Given the description of an element on the screen output the (x, y) to click on. 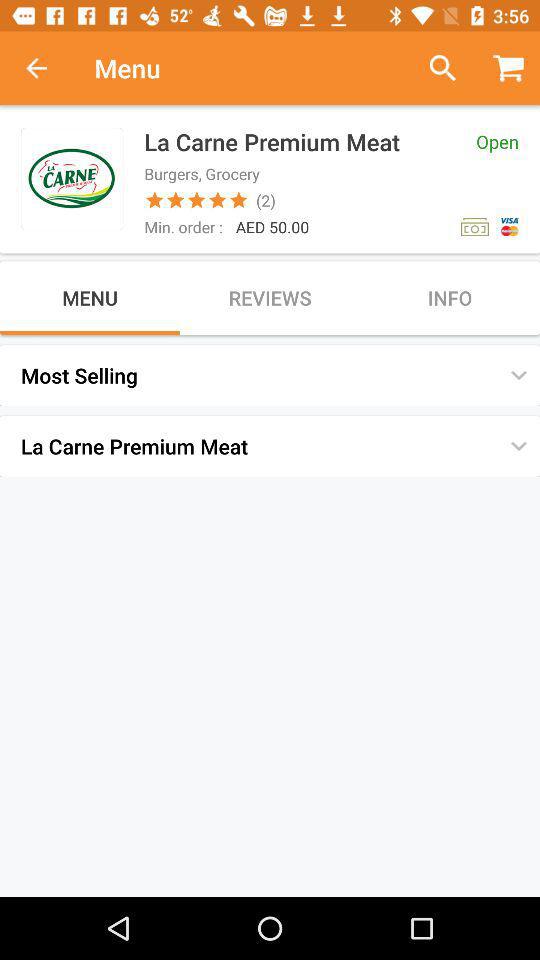
go back (47, 68)
